Given the description of an element on the screen output the (x, y) to click on. 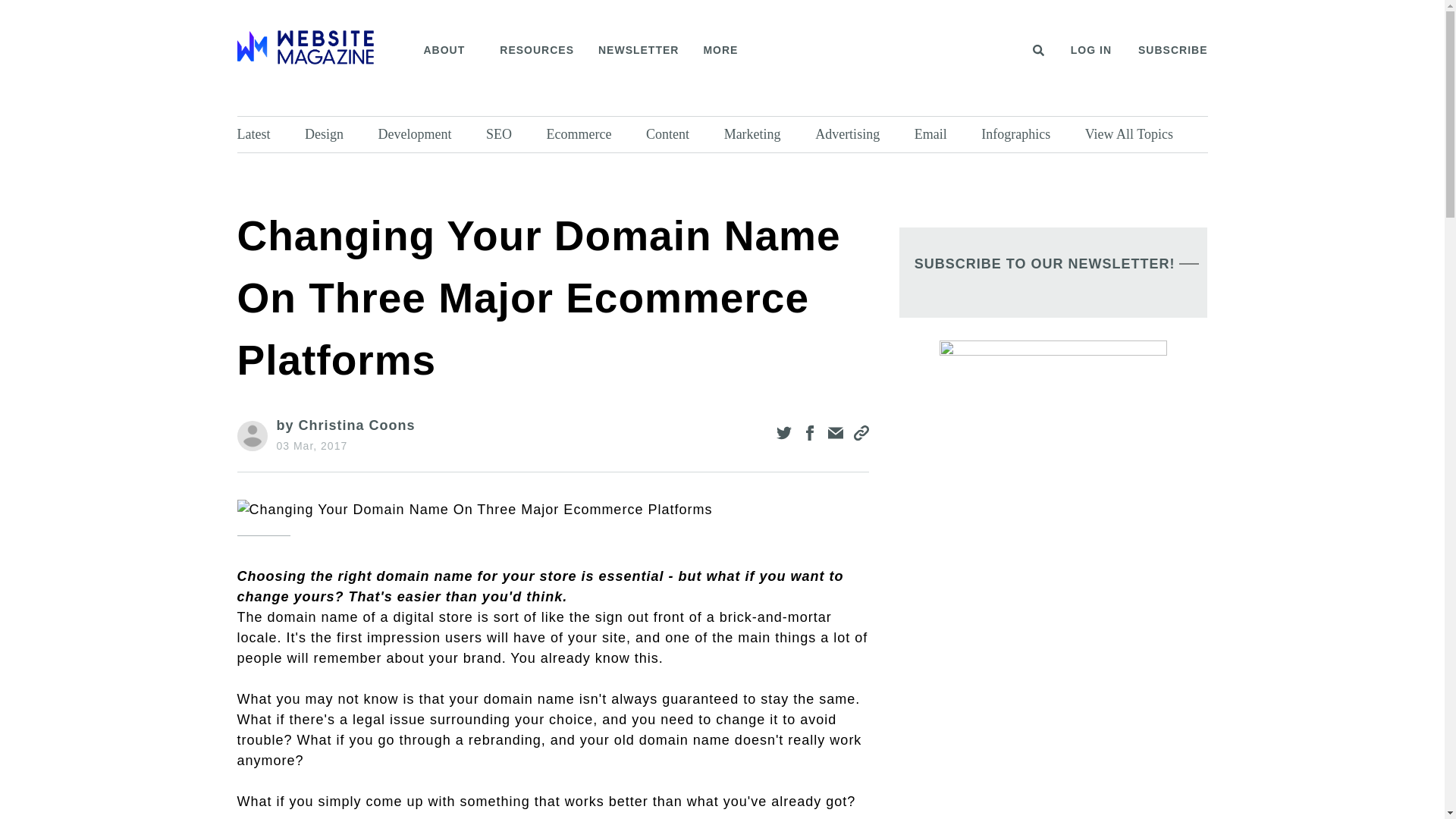
Website Magazine Logo (303, 47)
Design (337, 134)
Email (944, 134)
LOG IN (1091, 50)
by Christina Coons (345, 425)
Advertising (861, 134)
Latest (266, 134)
Content (681, 134)
Ecommerce (593, 134)
View All Topics (1141, 134)
